Given the description of an element on the screen output the (x, y) to click on. 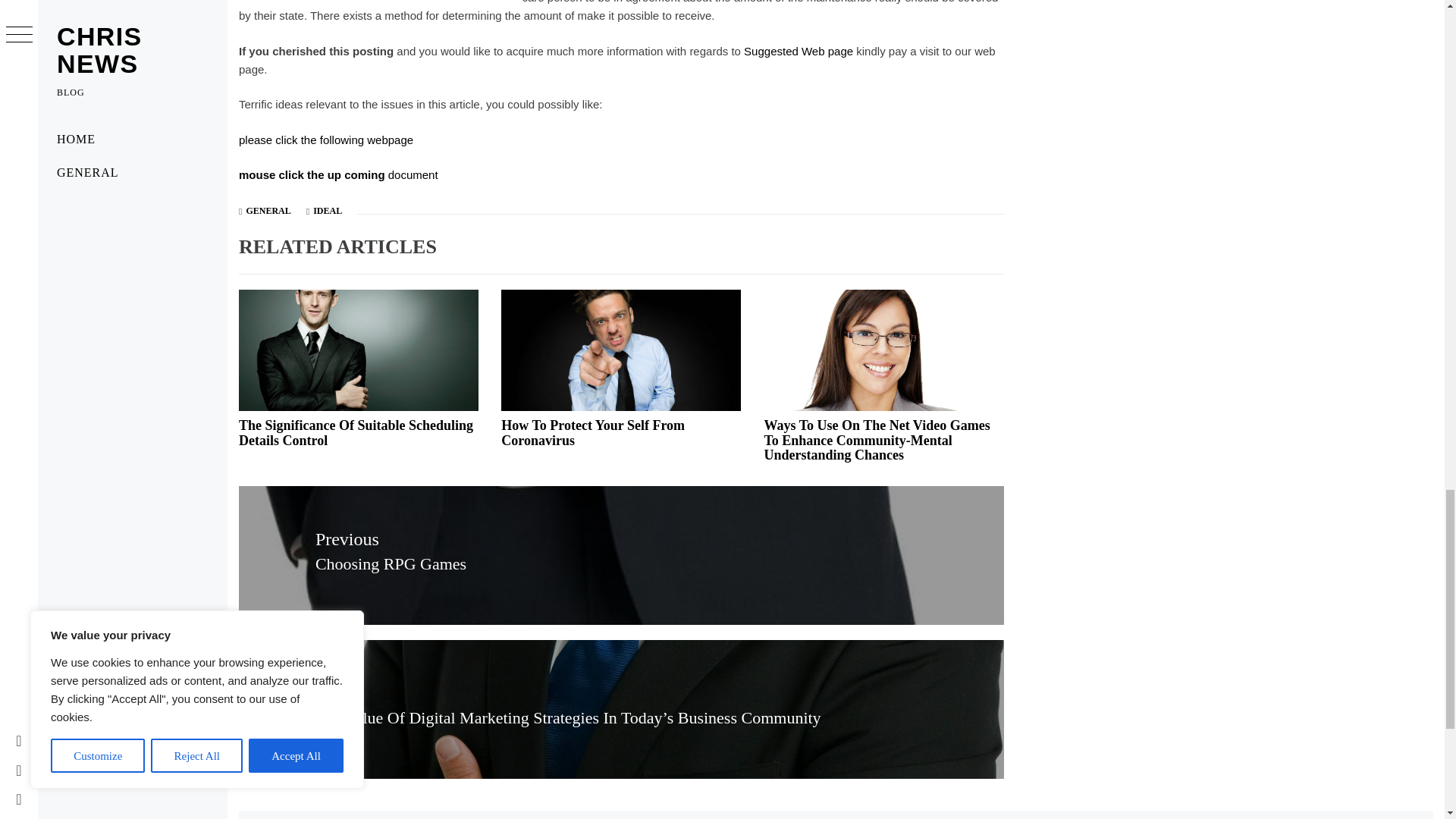
mouse click the up coming document (338, 174)
Suggested Web page (798, 51)
The Significance Of Suitable Scheduling Details Control (355, 432)
please click the following webpage (325, 139)
How To Protect Your Self From Coronavirus (592, 432)
GENERAL (267, 210)
IDEAL (327, 210)
